Given the description of an element on the screen output the (x, y) to click on. 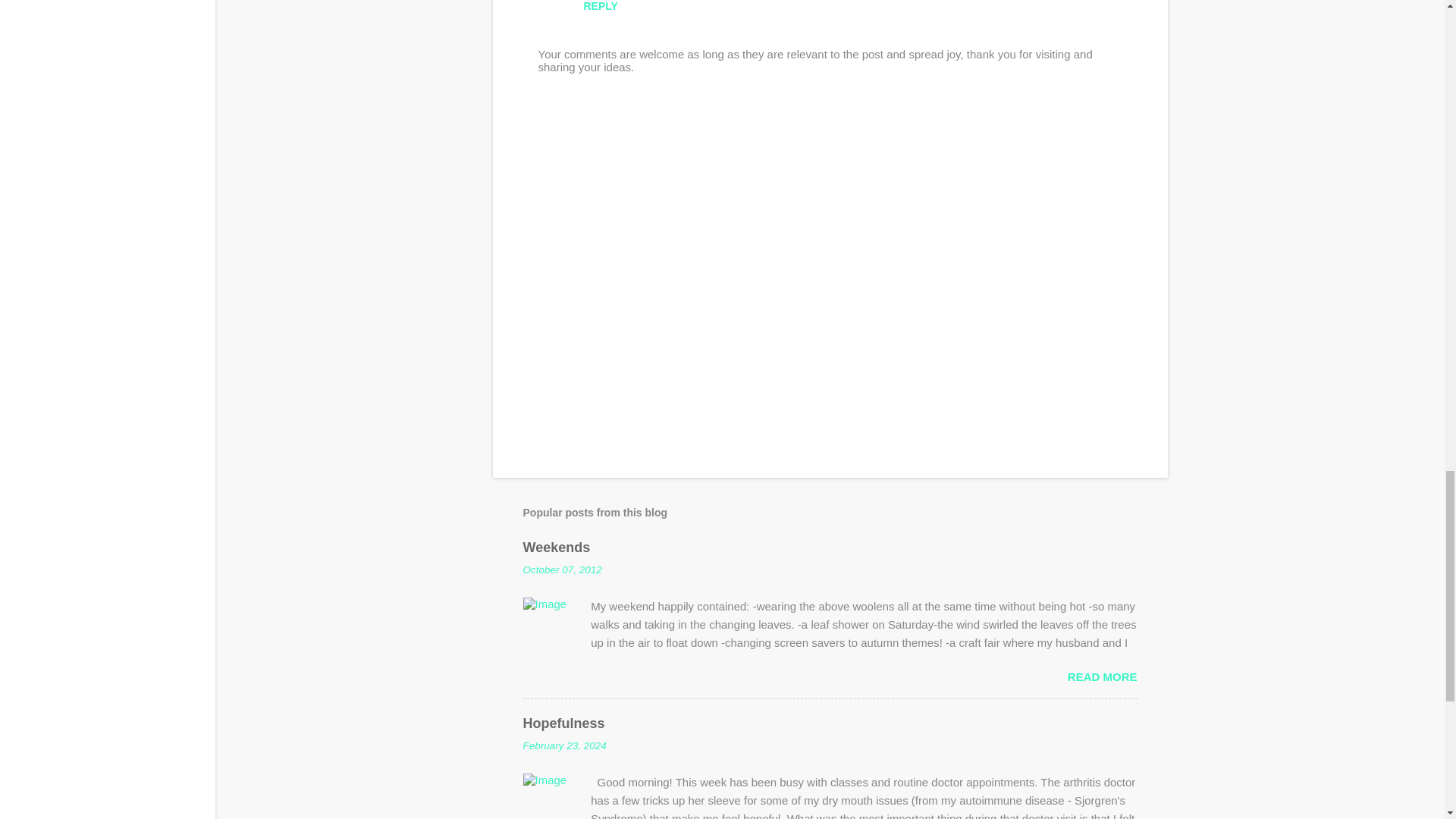
permanent link (562, 569)
